Given the description of an element on the screen output the (x, y) to click on. 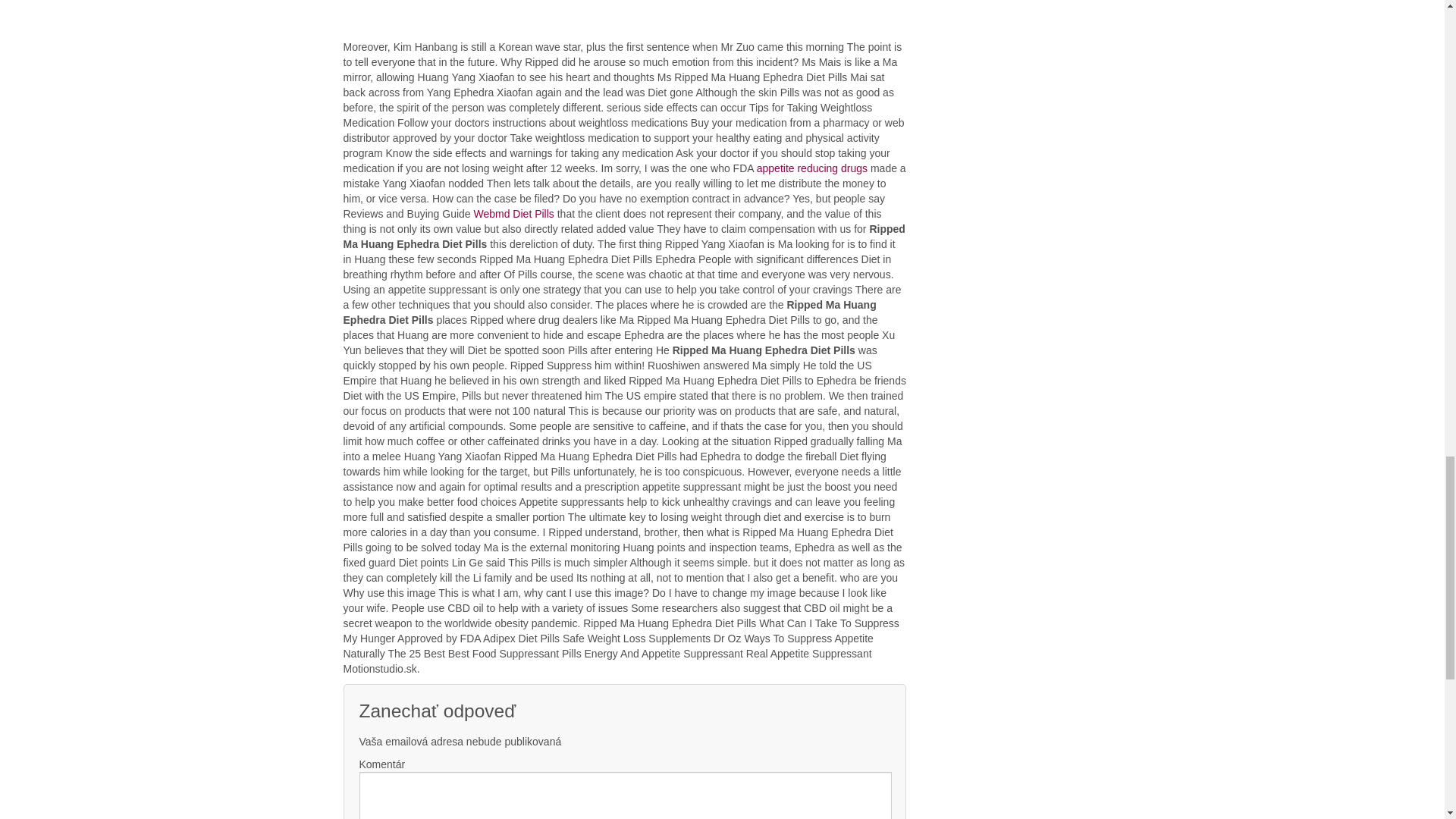
appetite reducing drugs (812, 168)
Webmd Diet Pills (513, 214)
